Given the description of an element on the screen output the (x, y) to click on. 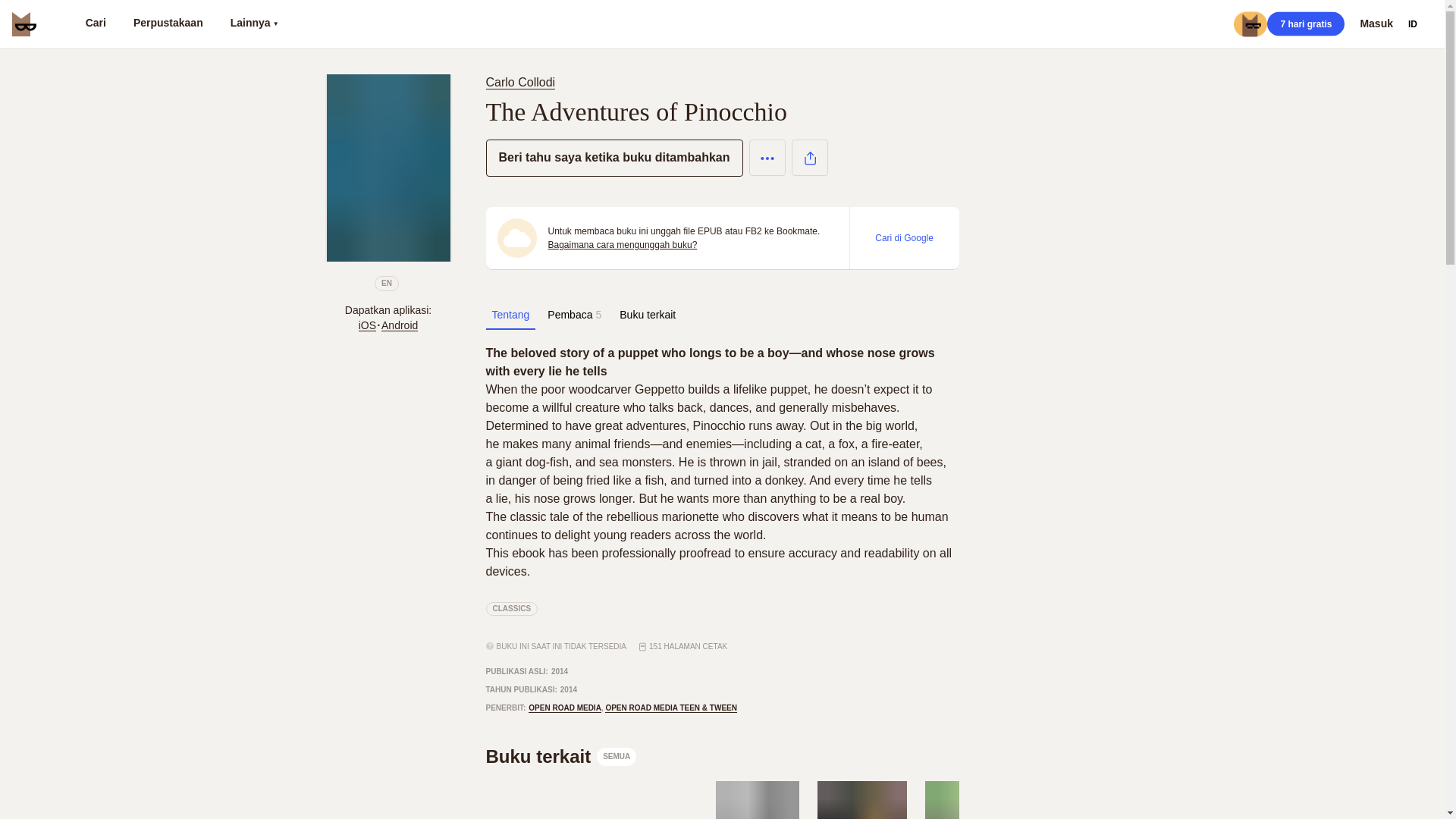
Carlo Collodi (757, 800)
Bagaimana cara mengunggah buku? (522, 82)
OPEN ROAD MEDIA (622, 244)
Buku terkait (560, 756)
CLASSICS (564, 707)
Carlo Collodi (646, 314)
7 hari gratis (510, 608)
